Given the description of an element on the screen output the (x, y) to click on. 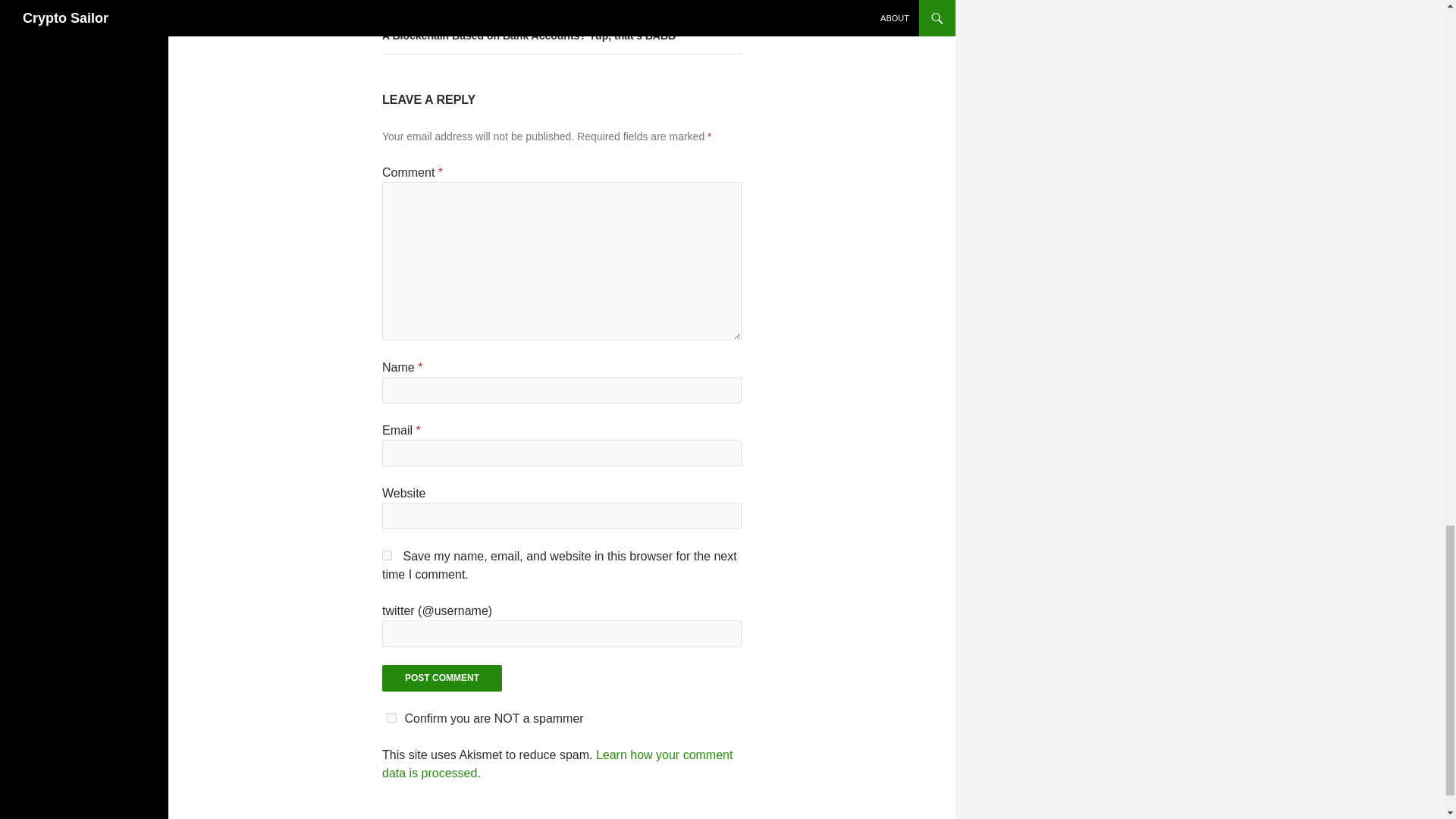
Post Comment (441, 678)
on (391, 717)
yes (386, 555)
Learn how your comment data is processed (556, 763)
Post Comment (441, 678)
